Given the description of an element on the screen output the (x, y) to click on. 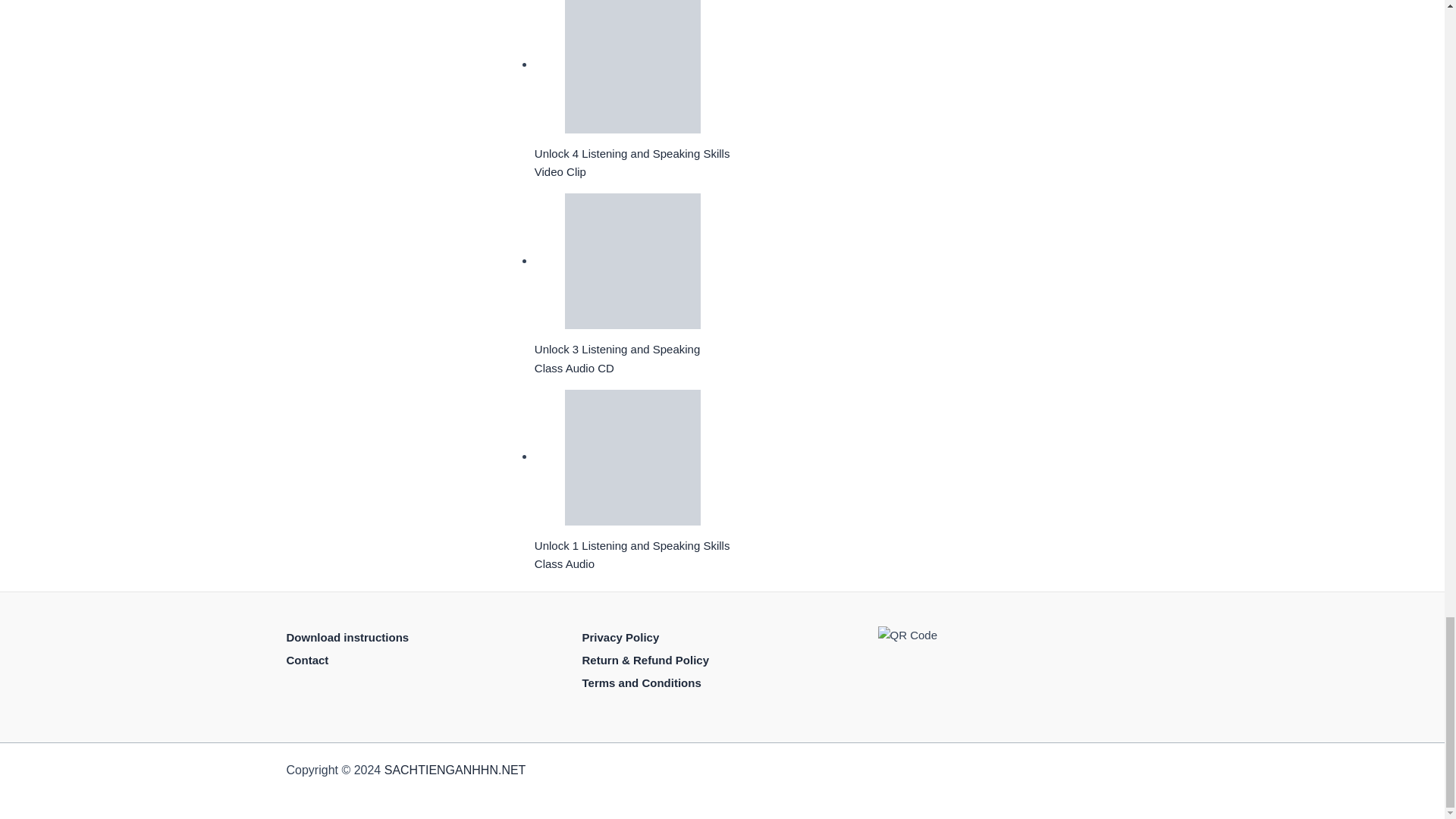
Unlock 4 Listening and Speaking Skills Video Clip (632, 66)
Unlock 1 Listening and Speaking Skills Class Audio (632, 457)
Unlock 3 Listening and Speaking Class Audio CD (632, 261)
